Given the description of an element on the screen output the (x, y) to click on. 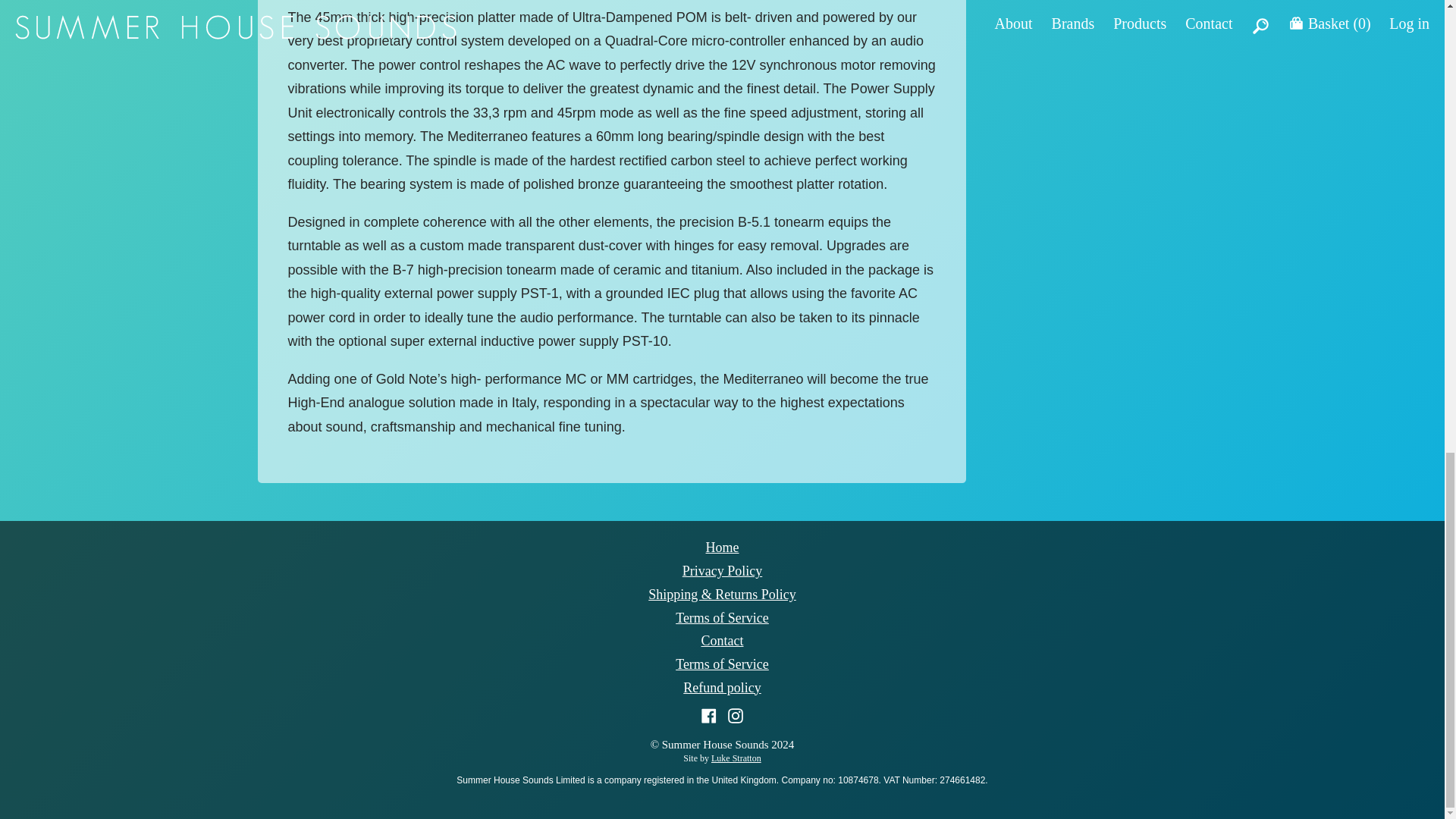
Terms of Service (721, 663)
Refund policy (721, 687)
Contact (721, 640)
Privacy Policy (722, 570)
Summer House Sounds on Instagram (735, 713)
Home (721, 547)
Luke Stratton (736, 757)
Terms of Service (721, 616)
Facebook (710, 713)
Instagram (735, 713)
Summer House Sounds on Facebook (710, 713)
